Given the description of an element on the screen output the (x, y) to click on. 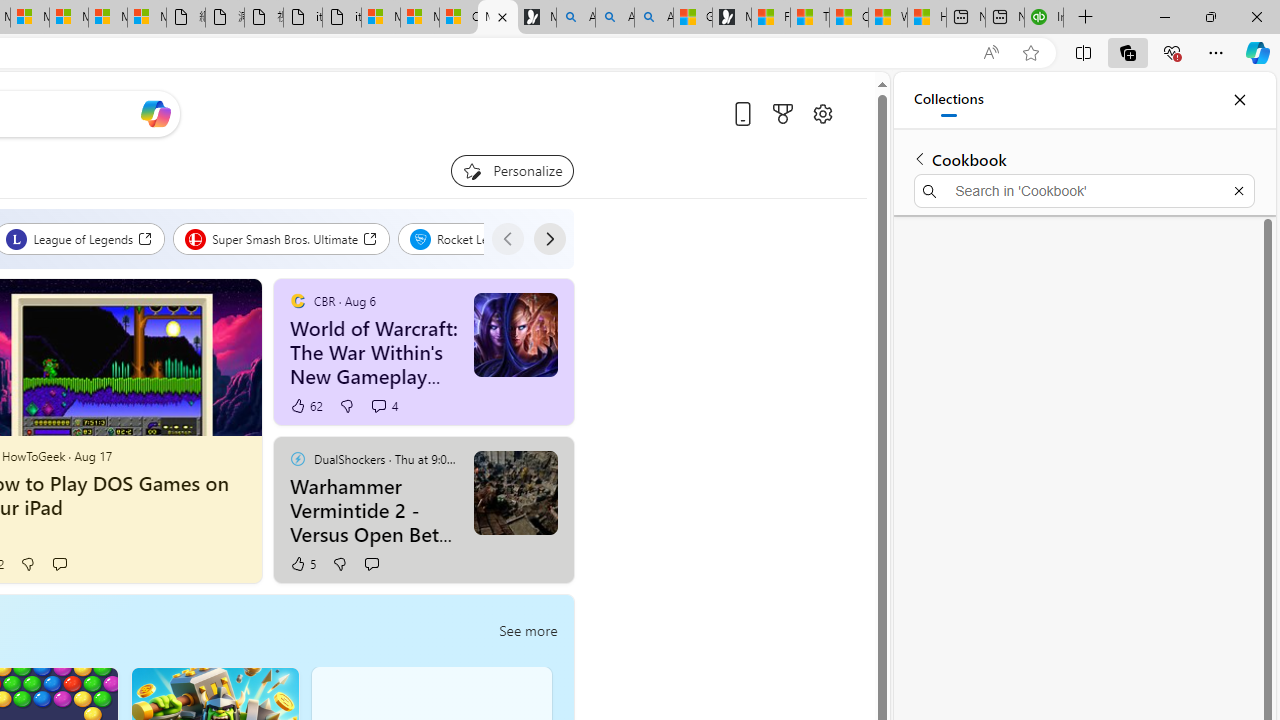
Search in 'Cookbook' (1084, 190)
View comments 4 Comment (383, 405)
CBR (297, 300)
Hide this story (512, 460)
Intuit QuickBooks Online - Quickbooks (1044, 17)
5 Like (302, 564)
